Given the description of an element on the screen output the (x, y) to click on. 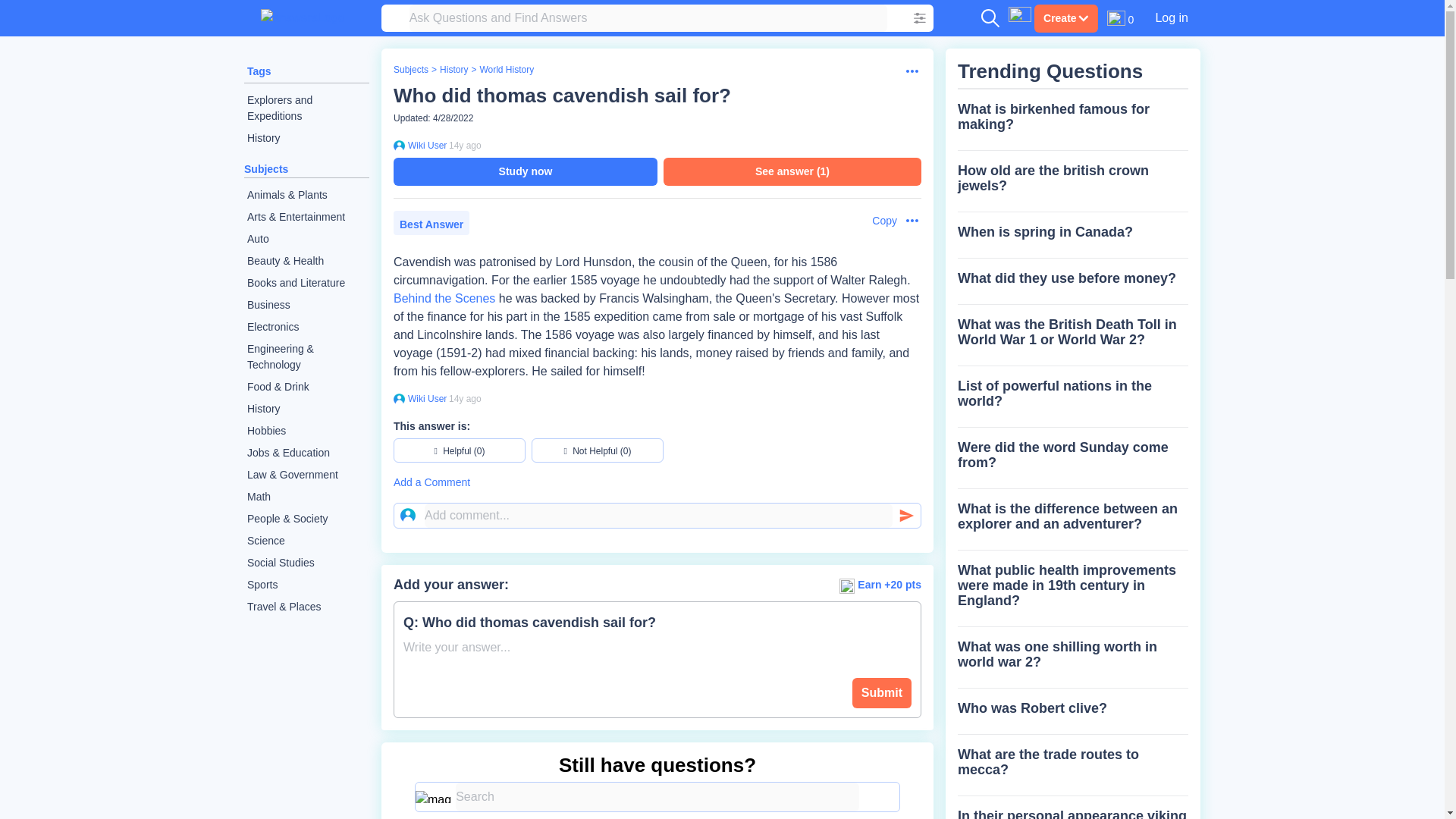
Business (306, 305)
Log in (1170, 17)
Books and Literature (306, 282)
Hobbies (306, 431)
Auto (306, 239)
Subjects (266, 168)
Who did thomas cavendish sail for? (561, 95)
Explorers and Expeditions (306, 108)
Subjects (410, 69)
Sports (306, 585)
2010-05-25 20:01:13 (464, 145)
Electronics (306, 327)
2010-05-25 20:01:13 (464, 398)
Study now (525, 171)
World History (506, 69)
